Given the description of an element on the screen output the (x, y) to click on. 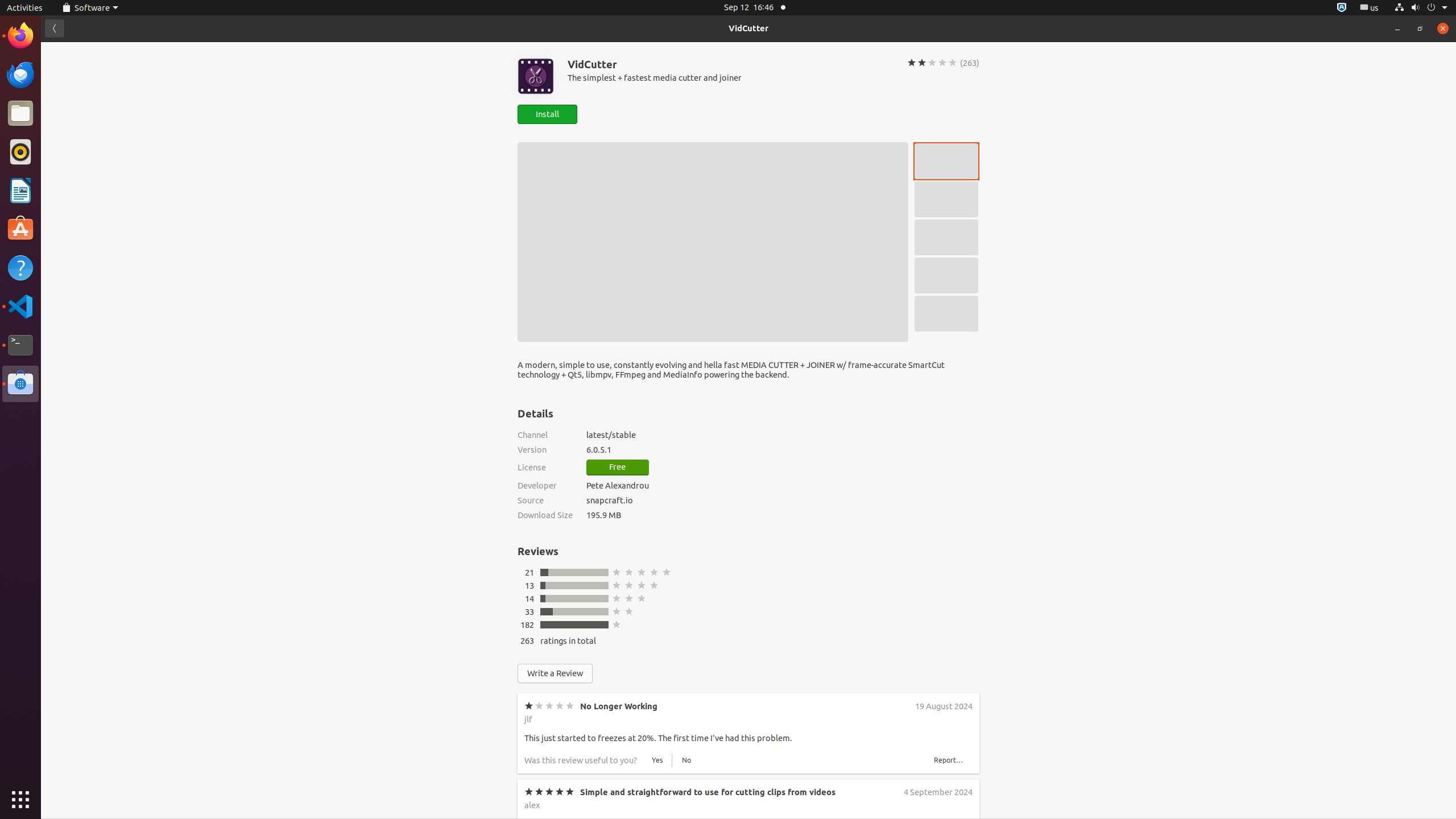
Reviews Element type: label (537, 550)
Pete Alexandrou Element type: label (617, 485)
263 Element type: label (527, 640)
latest/stable Element type: label (782, 434)
